Given the description of an element on the screen output the (x, y) to click on. 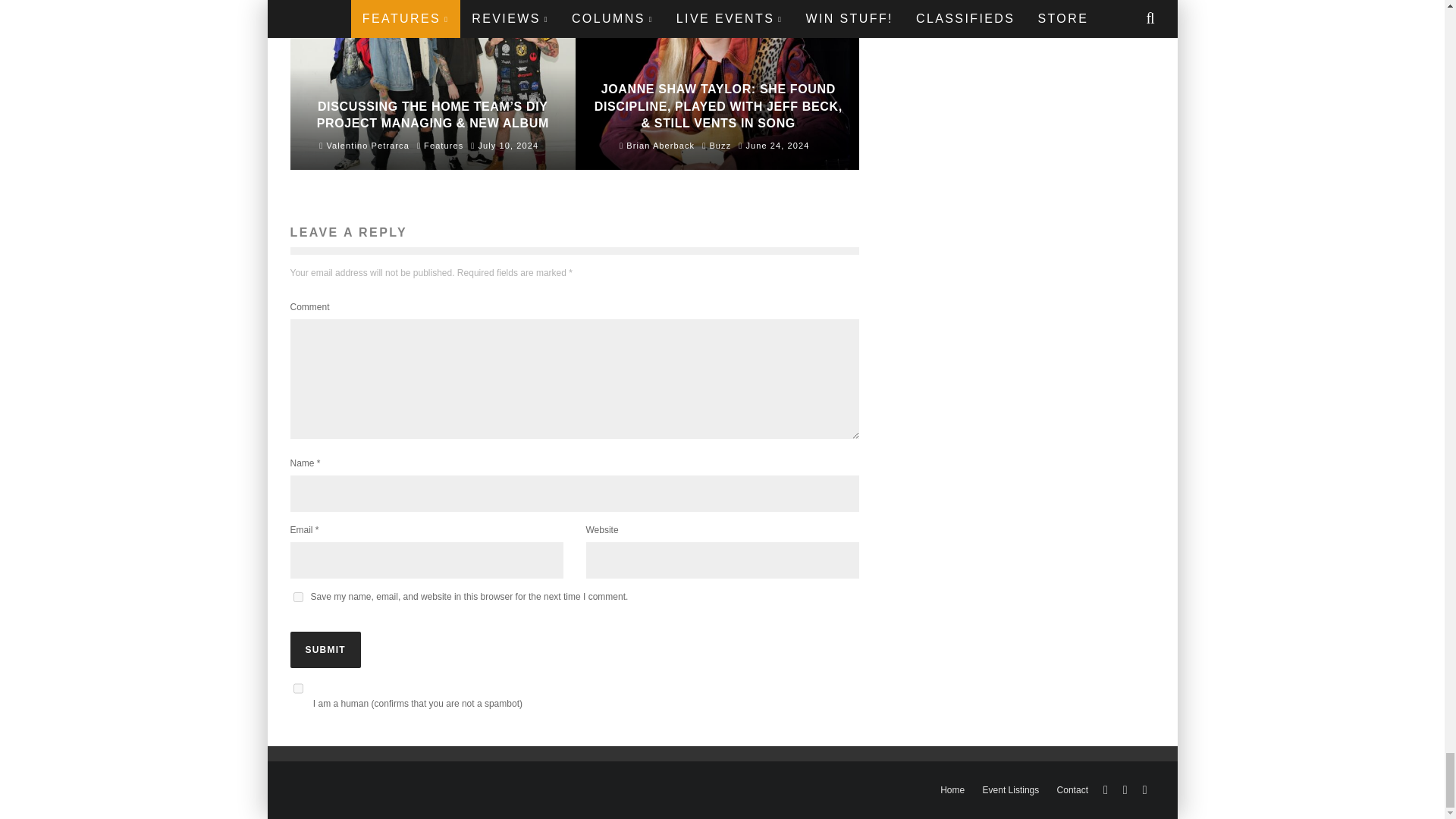
Submit (324, 649)
yes (297, 596)
